Given the description of an element on the screen output the (x, y) to click on. 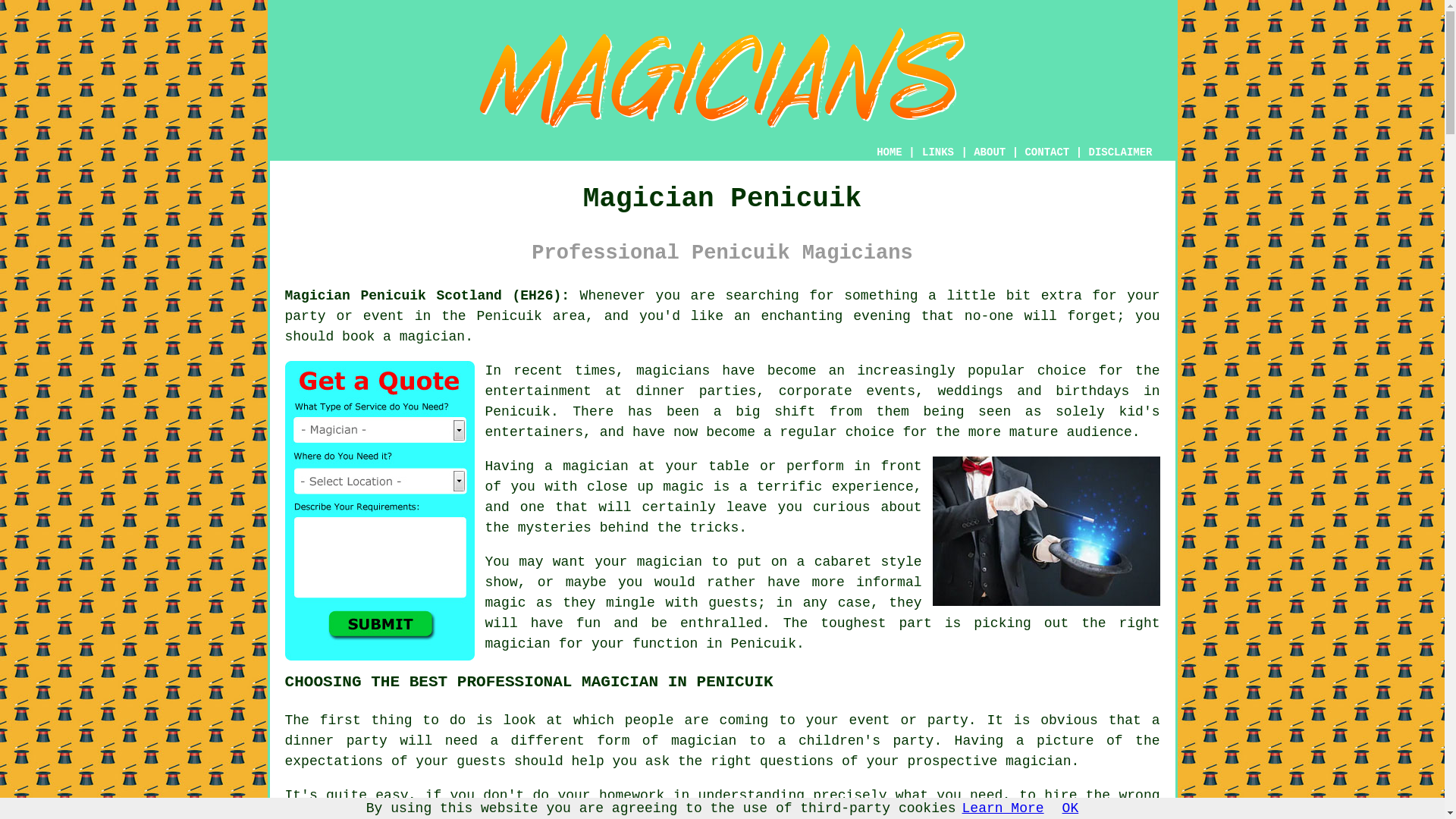
LINKS (938, 151)
HOME (889, 152)
Magician Penicuik (722, 77)
